Given the description of an element on the screen output the (x, y) to click on. 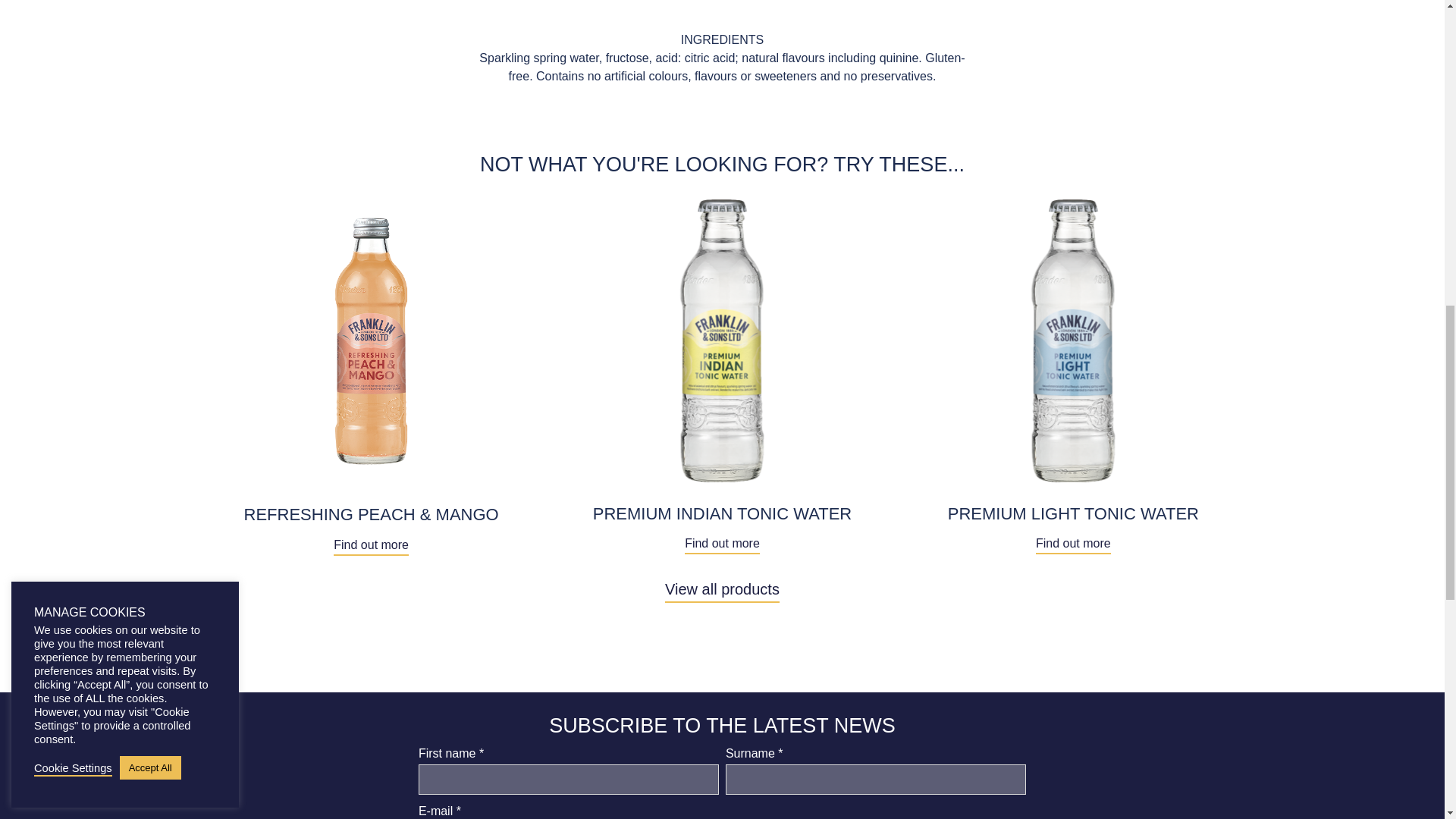
Find out more (722, 543)
Find out more (371, 545)
View all products (721, 589)
Find out more (1072, 543)
